Given the description of an element on the screen output the (x, y) to click on. 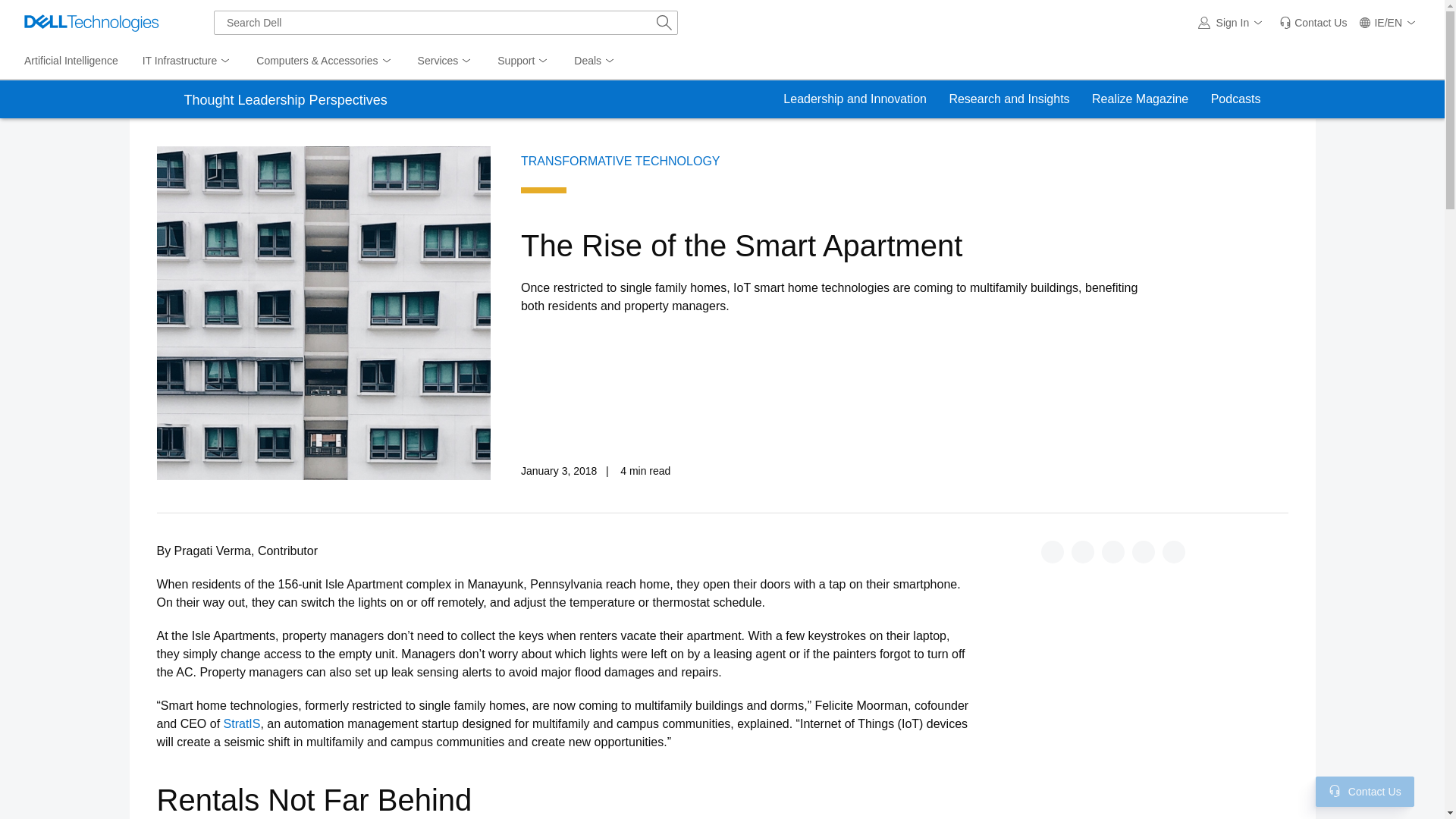
Contact Us (1333, 790)
Contact Us (1312, 22)
IT Infrastructure (187, 61)
Sign In (1233, 22)
Artificial Intelligence (71, 61)
